Given the description of an element on the screen output the (x, y) to click on. 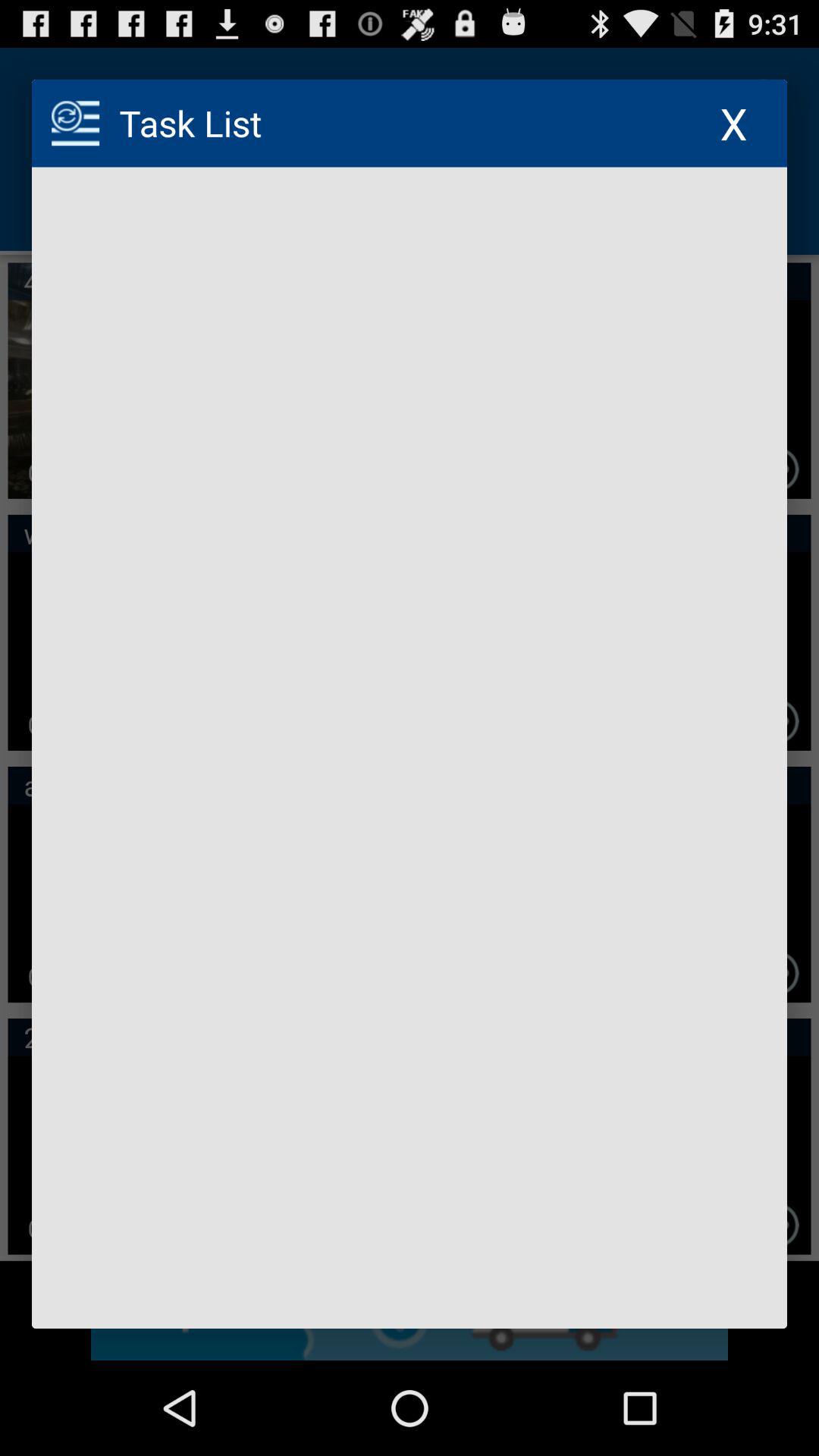
edit task list (409, 747)
